Given the description of an element on the screen output the (x, y) to click on. 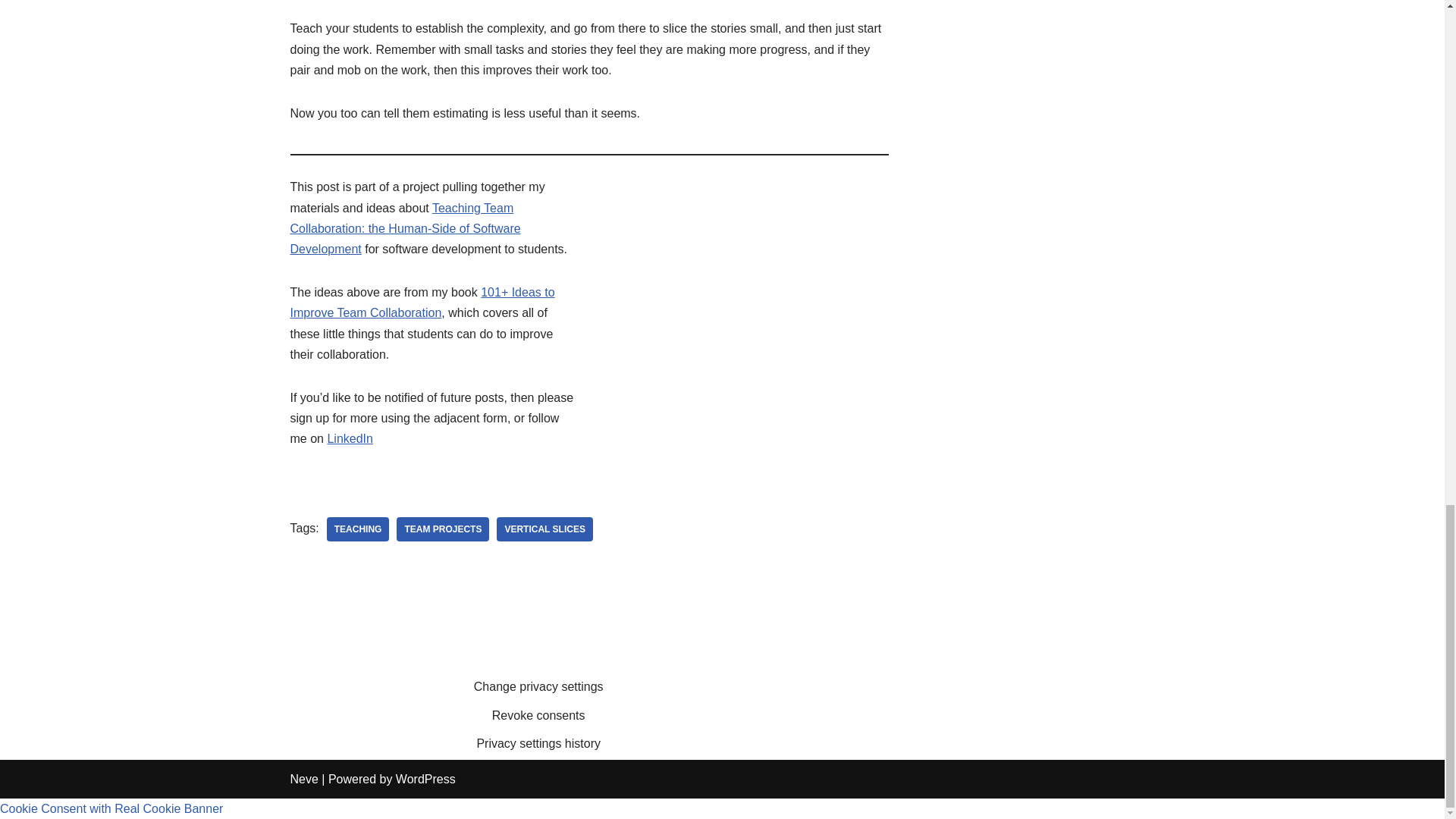
teaching (358, 528)
TEAM PROJECTS (442, 528)
vertical slices (544, 528)
TEACHING (358, 528)
team projects (442, 528)
VERTICAL SLICES (544, 528)
LinkedIn (349, 438)
